Given the description of an element on the screen output the (x, y) to click on. 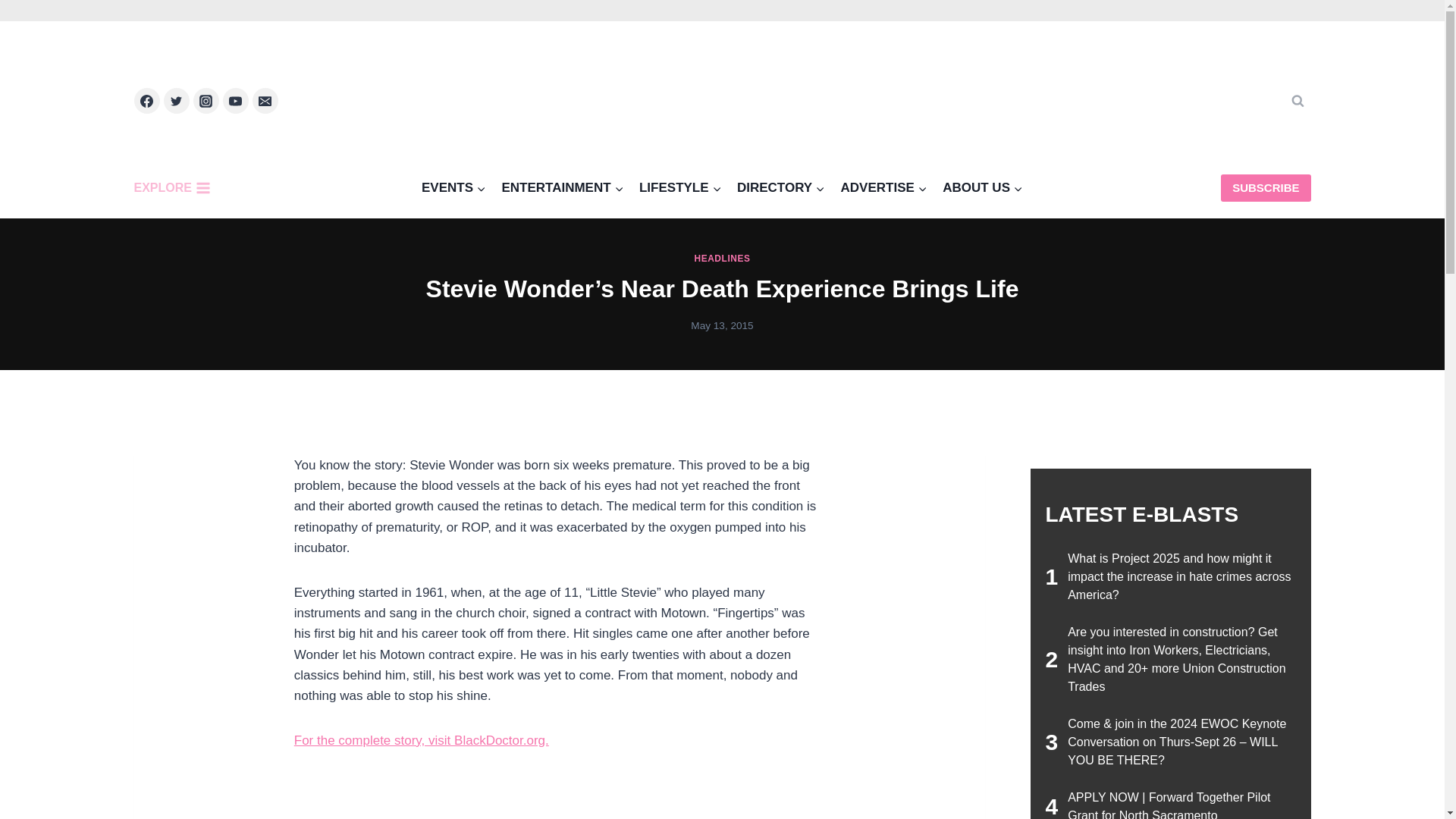
LIFESTYLE (680, 188)
EXPLORE (174, 187)
ENTERTAINMENT (562, 188)
EVENTS (453, 188)
